Given the description of an element on the screen output the (x, y) to click on. 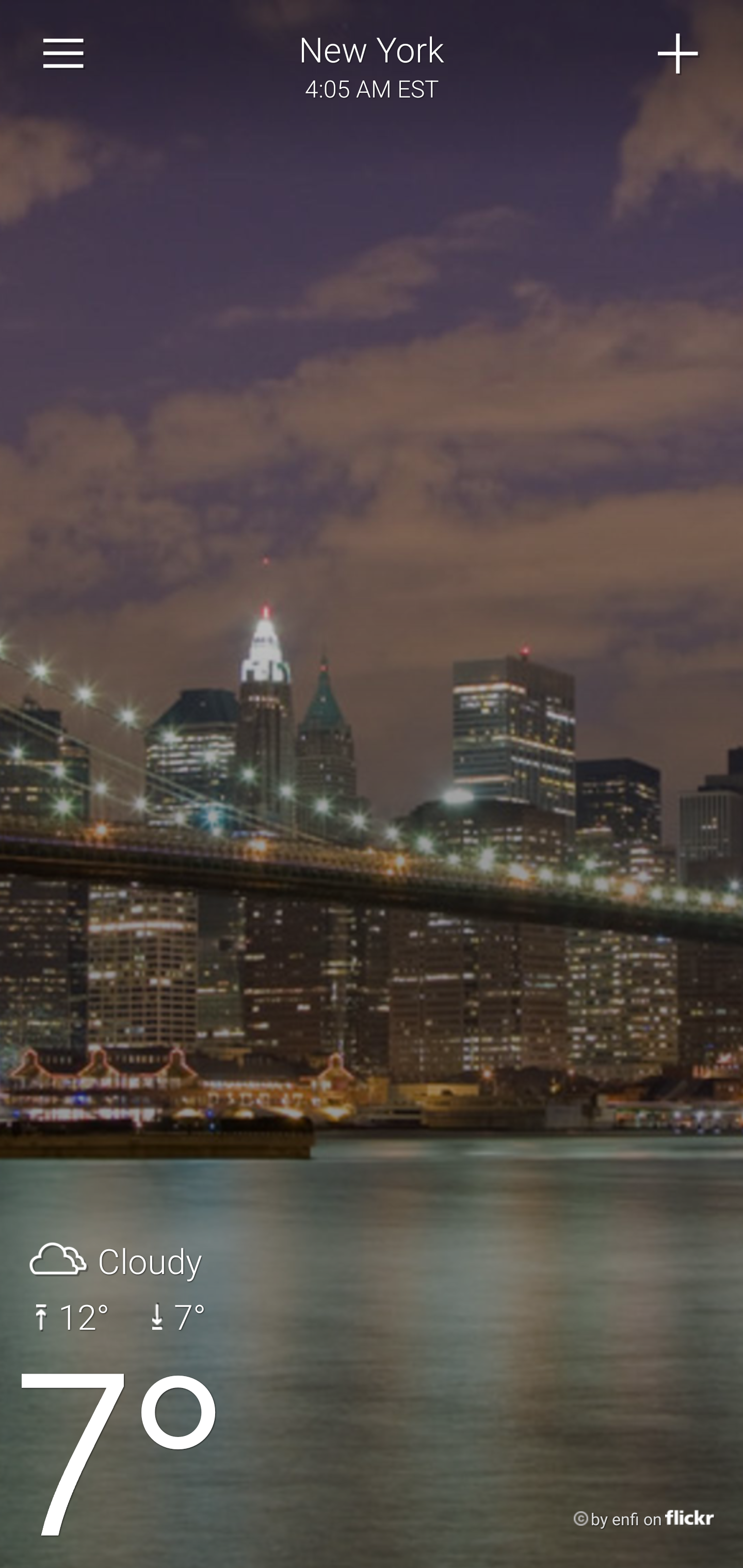
Sidebar (64, 54)
Add City (678, 53)
by enfi on Background photo by: enfi on Flickr (625, 1519)
